Given the description of an element on the screen output the (x, y) to click on. 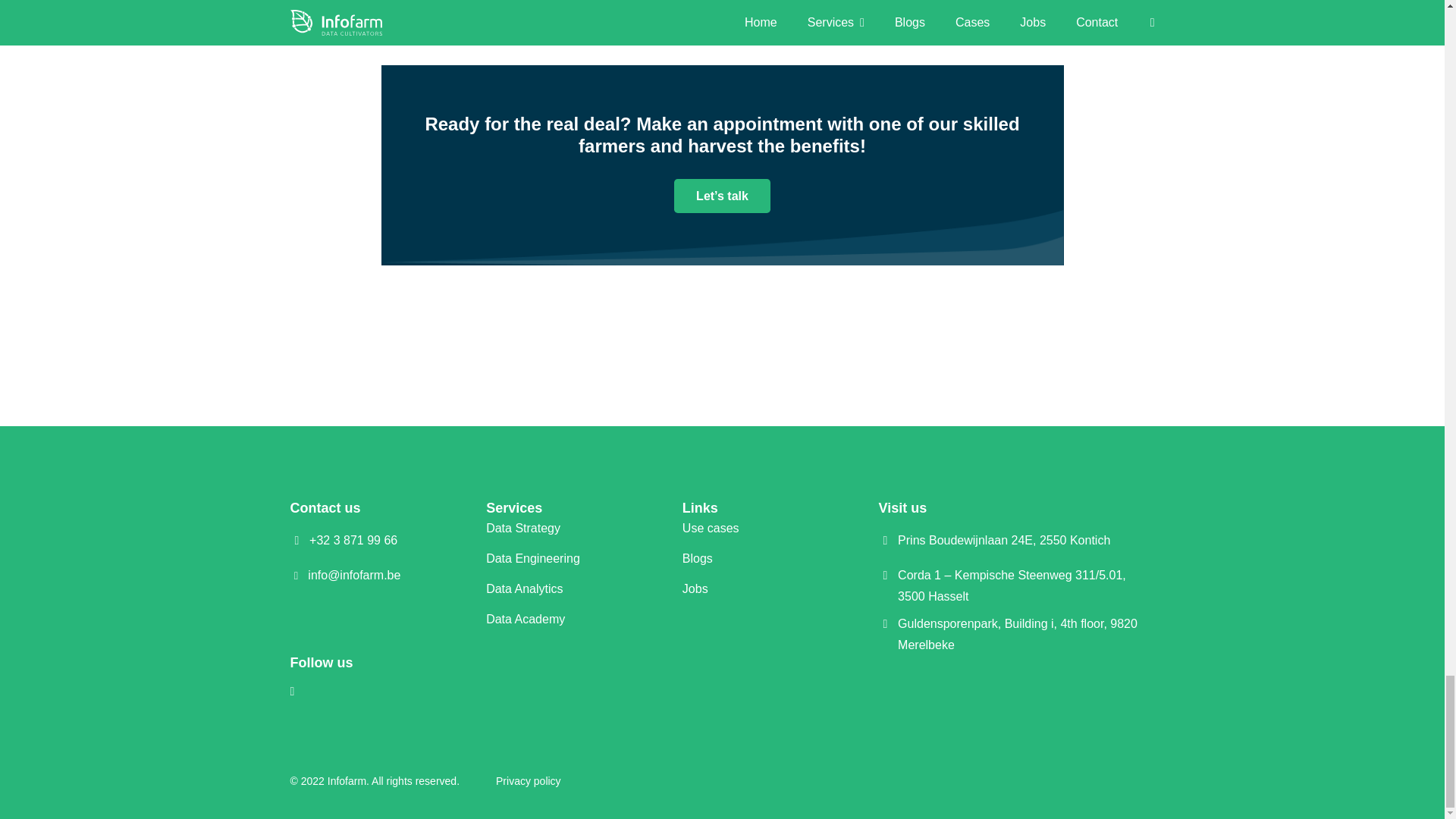
Blogs (697, 558)
Data Strategy (523, 527)
Privacy policy (528, 780)
Guldensporenpark, Building i, 4th floor, 9820 Merelbeke (1026, 634)
Prins Boudewijnlaan 24E, 2550 Kontich (1003, 540)
Jobs (694, 588)
Data Engineering (532, 558)
Data Academy (525, 618)
Contact (722, 195)
Use cases (710, 527)
Data Analytics (524, 588)
